Given the description of an element on the screen output the (x, y) to click on. 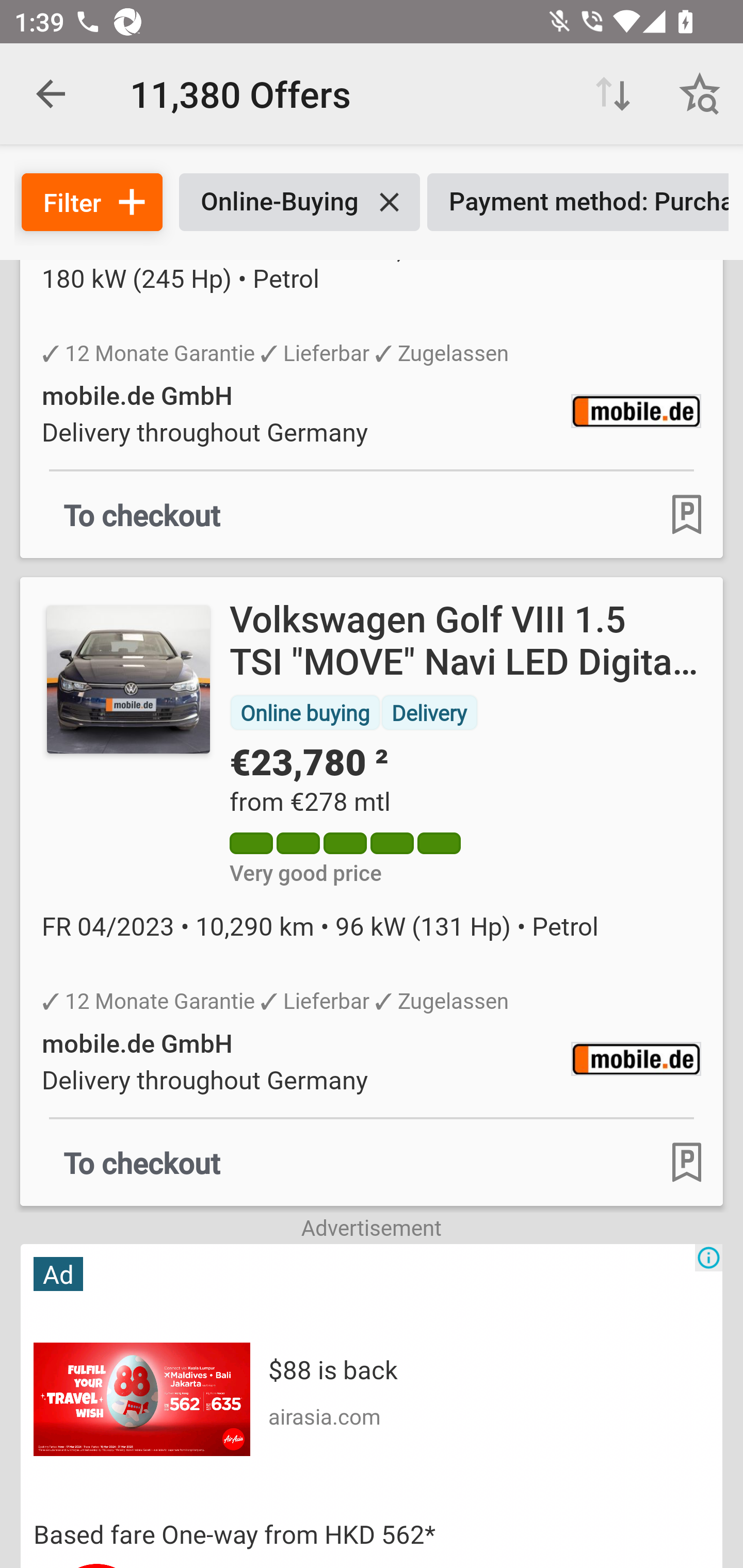
Navigate up (50, 93)
Sort options (612, 93)
Save search (699, 93)
Online-Buying Remove Online-Buying (299, 202)
Payment method: Purchase (577, 202)
Filter (91, 202)
To checkout (142, 513)
To checkout (142, 1161)
Ad Choices Icon (708, 1257)
$88 is back (332, 1368)
airasia.com (324, 1415)
Based fare One-way from HKD 562* (371, 1534)
